Given the description of an element on the screen output the (x, y) to click on. 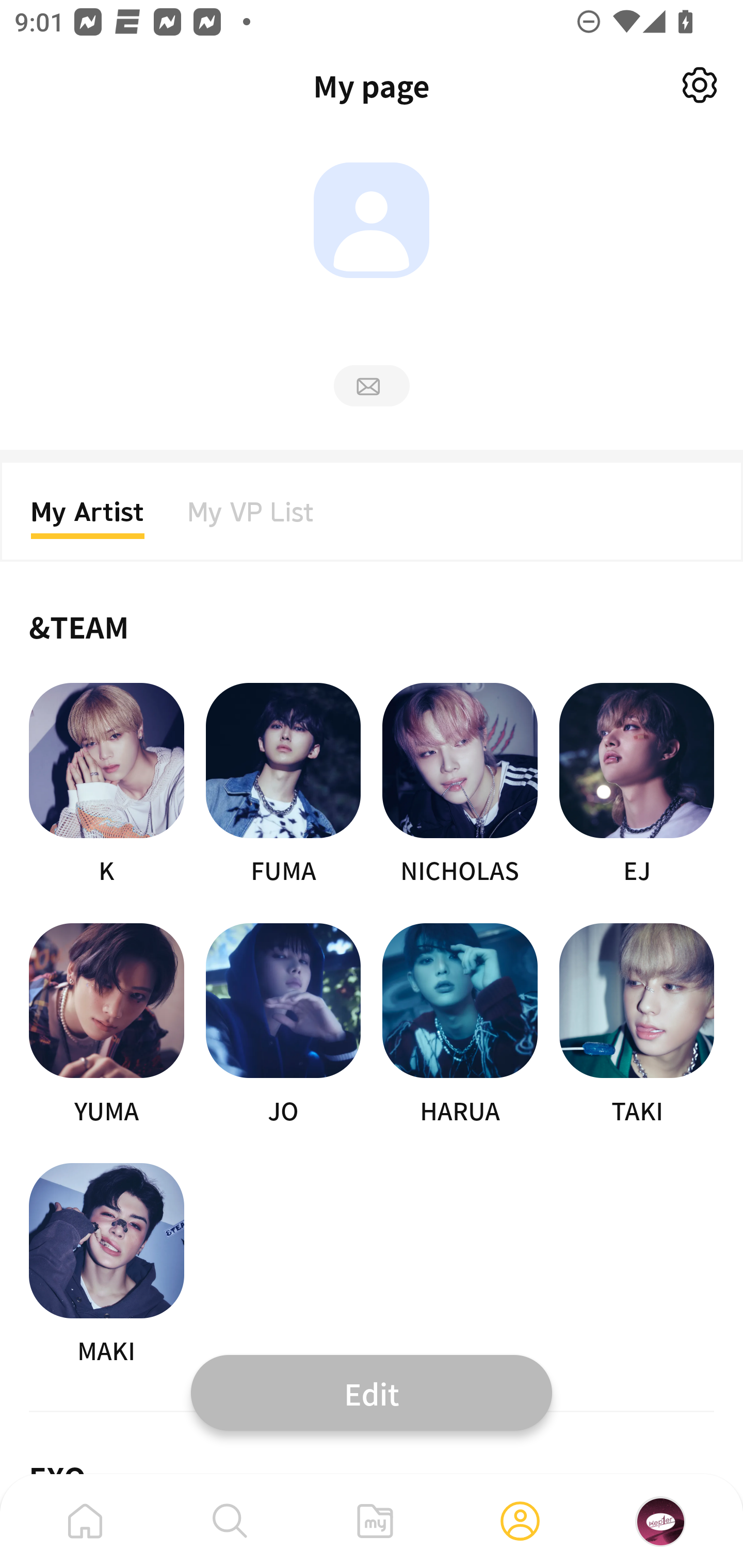
My Artist (87, 517)
My VP List (250, 517)
K (106, 785)
FUMA (282, 785)
NICHOLAS (459, 785)
EJ (636, 785)
YUMA (106, 1025)
JO (282, 1025)
HARUA (459, 1025)
TAKI (636, 1025)
MAKI (106, 1265)
Edit (371, 1392)
